Given the description of an element on the screen output the (x, y) to click on. 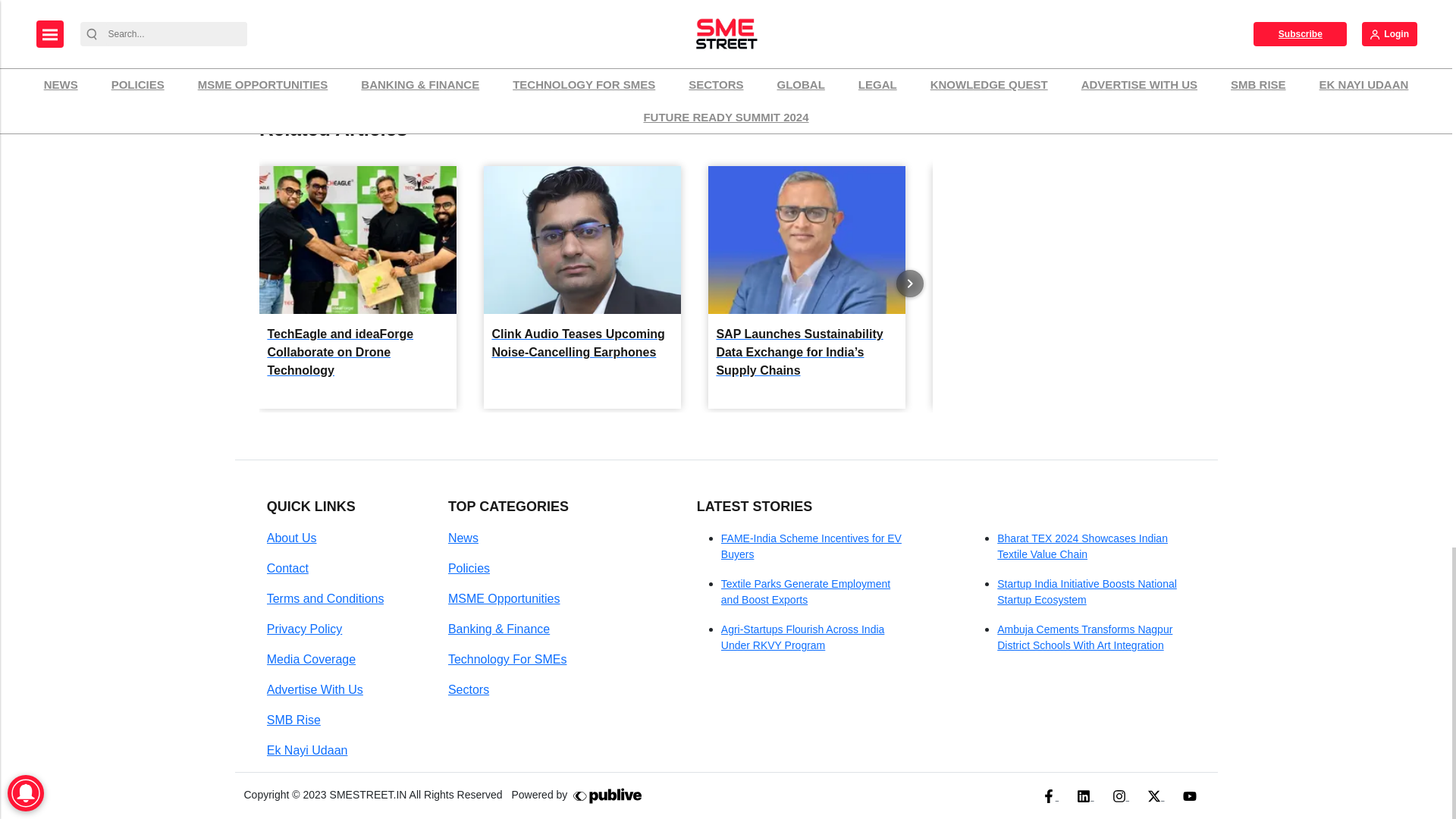
3rd party ad content (1066, 30)
